Given the description of an element on the screen output the (x, y) to click on. 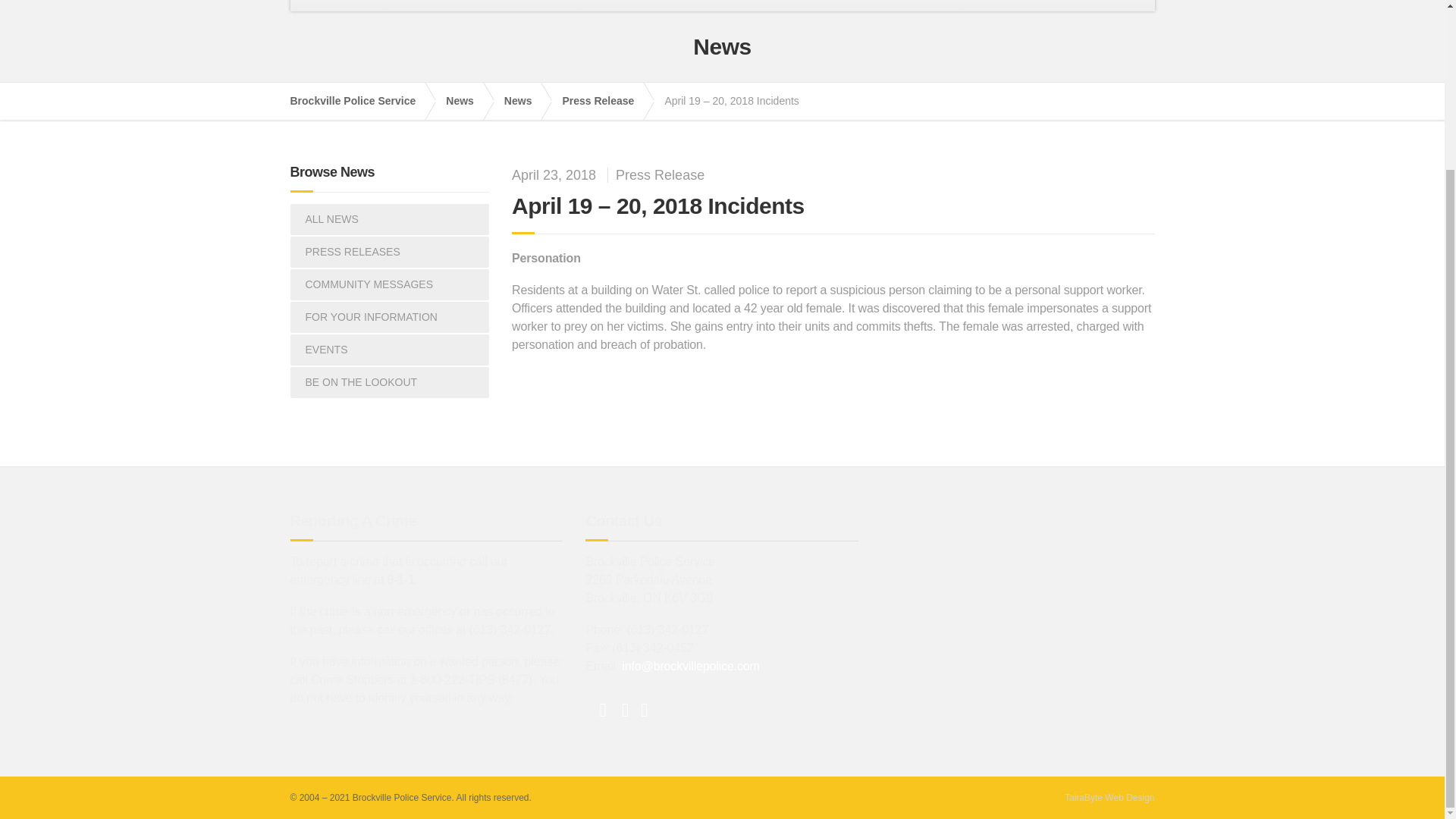
Contact (855, 5)
Go to Brockville Police Service. (359, 100)
